Given the description of an element on the screen output the (x, y) to click on. 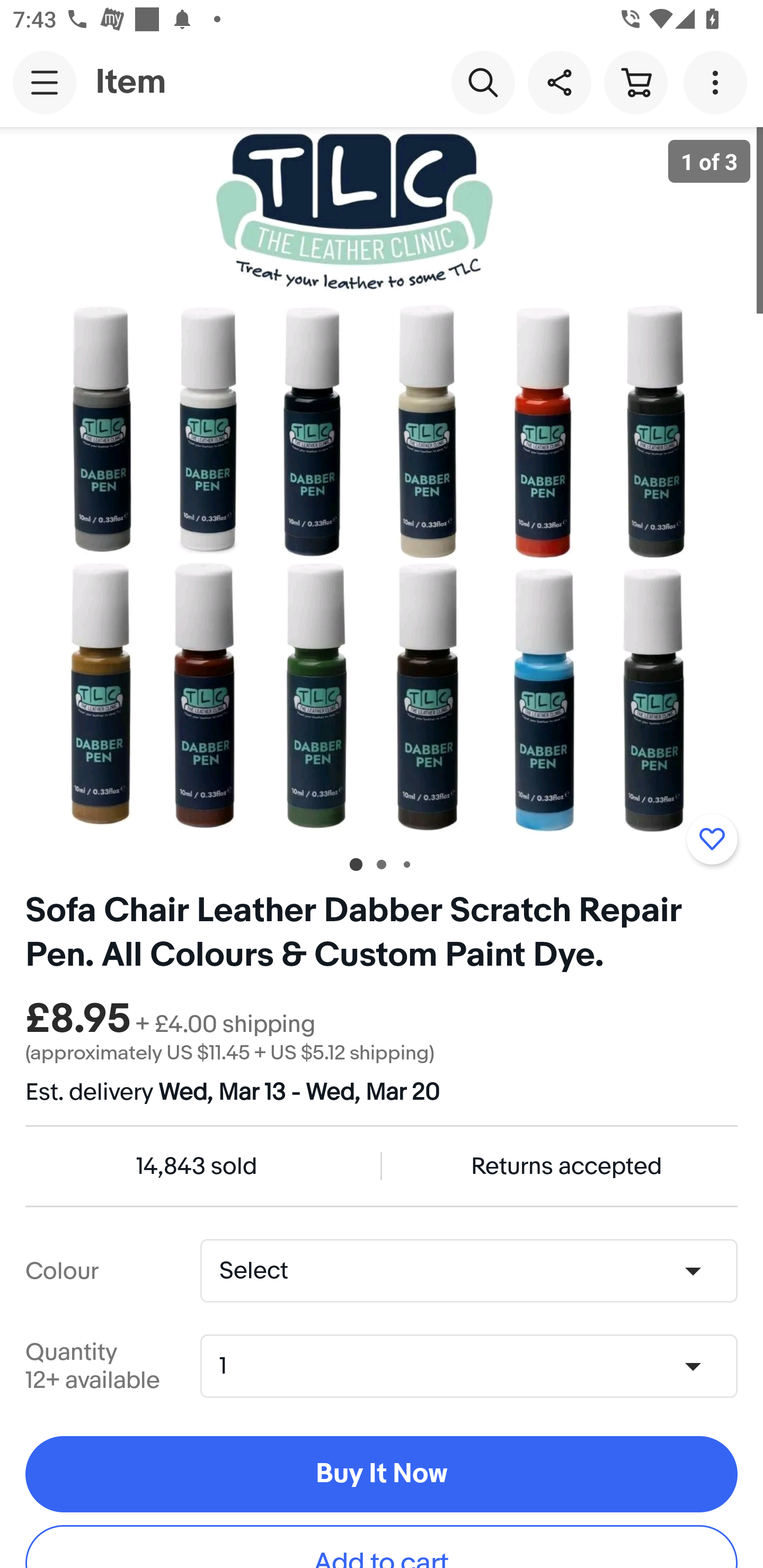
Main navigation, open (44, 82)
Search (482, 81)
Share this item (559, 81)
Cart button shopping cart (635, 81)
More options (718, 81)
Item image 1 of 3 (381, 482)
Add to watchlist (711, 838)
Colour,No selection Select (468, 1270)
Quantity,1,12+ available 1 (474, 1365)
Buy It Now (381, 1474)
